Given the description of an element on the screen output the (x, y) to click on. 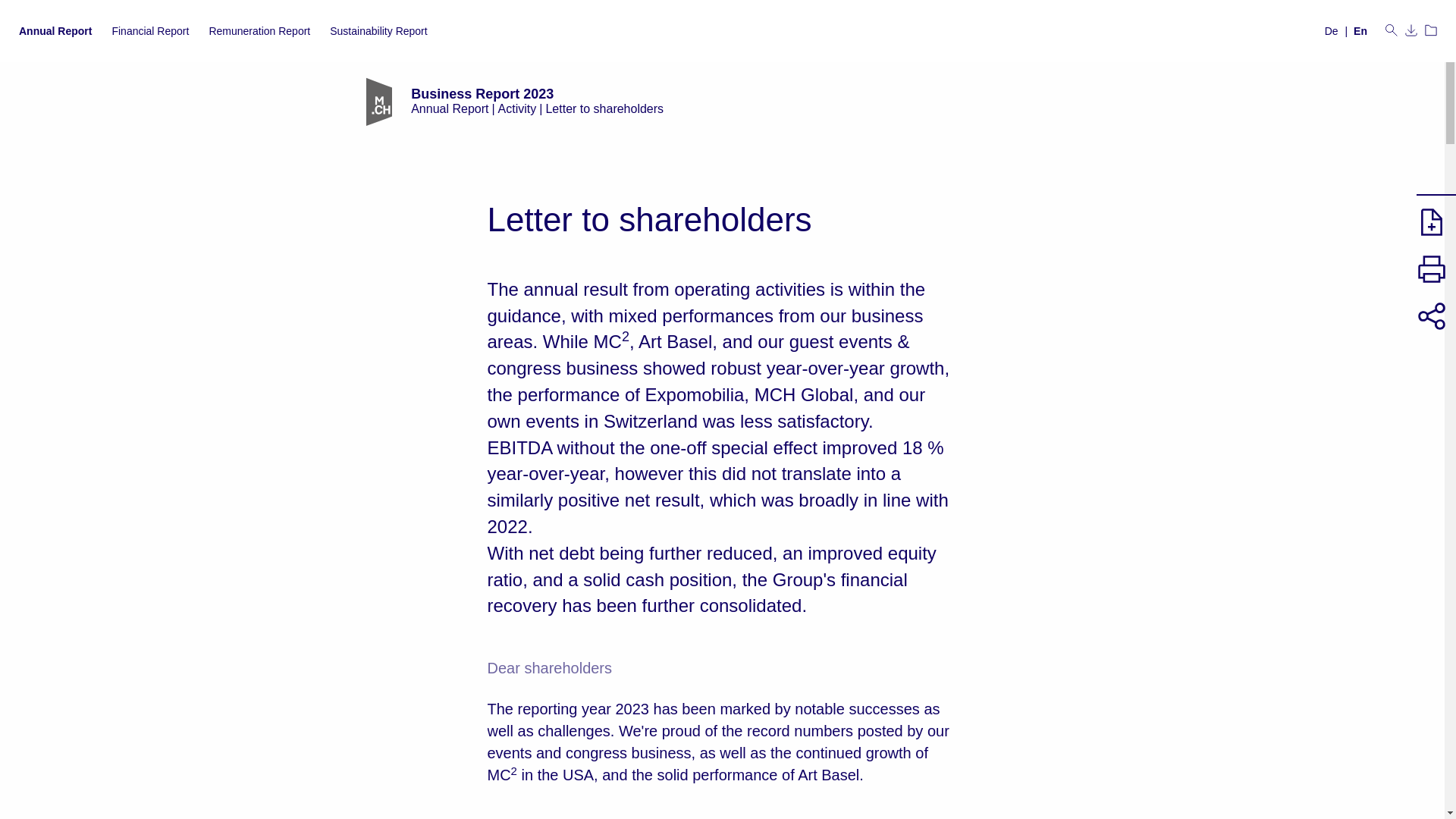
Annual Report (54, 30)
Financial Report (150, 30)
